Given the description of an element on the screen output the (x, y) to click on. 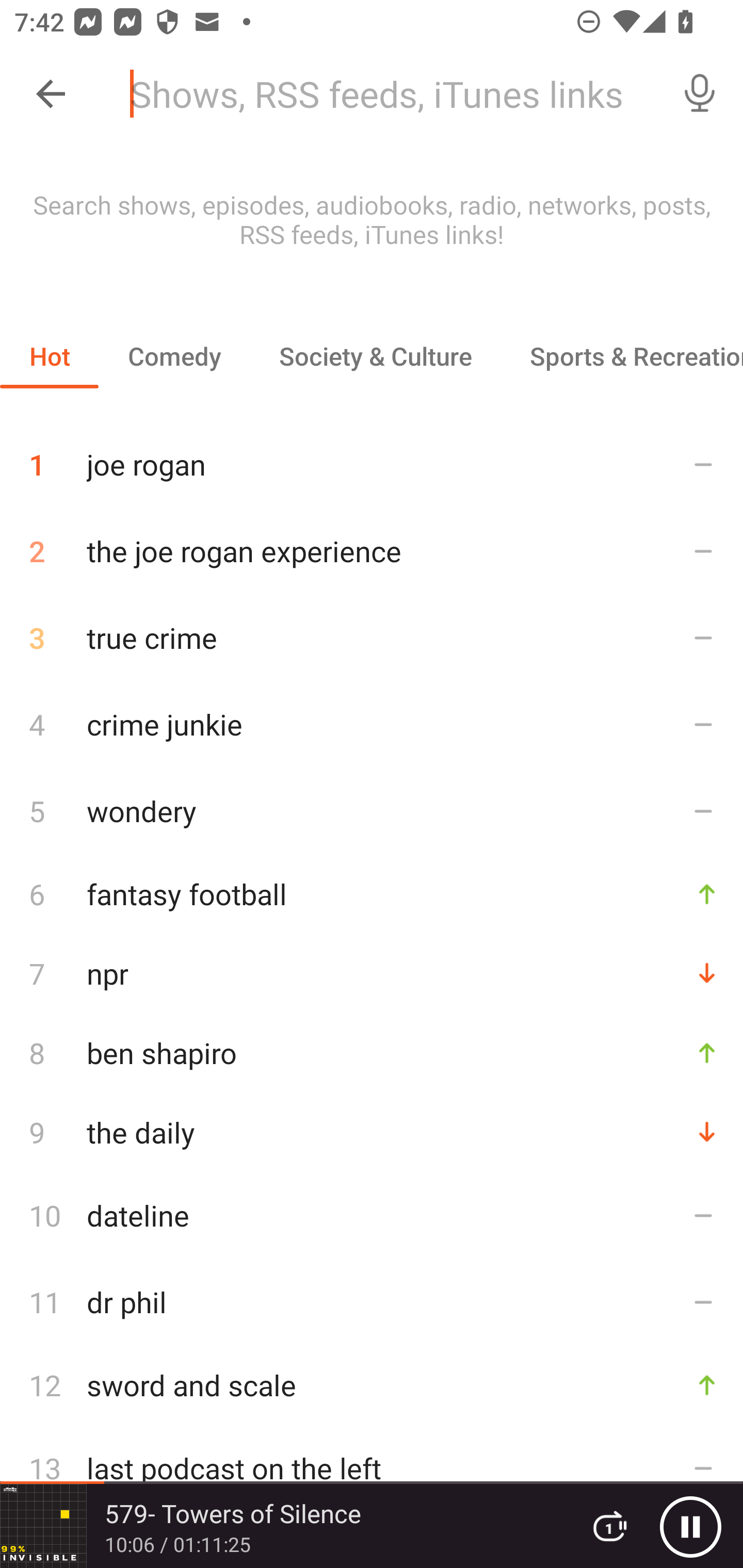
Collapse (50, 93)
Voice Search (699, 93)
Shows, RSS feeds, iTunes links (385, 94)
Hot (49, 355)
Comedy (173, 355)
Society & Culture (374, 355)
Sports & Recreation (621, 355)
1 joe rogan (371, 457)
2 the joe rogan experience (371, 551)
3 true crime (371, 637)
4 crime junkie (371, 723)
5 wondery (371, 810)
6 fantasy football (371, 893)
7 npr (371, 972)
8 ben shapiro (371, 1052)
9 the daily (371, 1131)
10 dateline (371, 1215)
11 dr phil (371, 1302)
12 sword and scale (371, 1385)
13 last podcast on the left (371, 1468)
579- Towers of Silence 10:06 / 01:11:25 (283, 1525)
Pause (690, 1526)
